Given the description of an element on the screen output the (x, y) to click on. 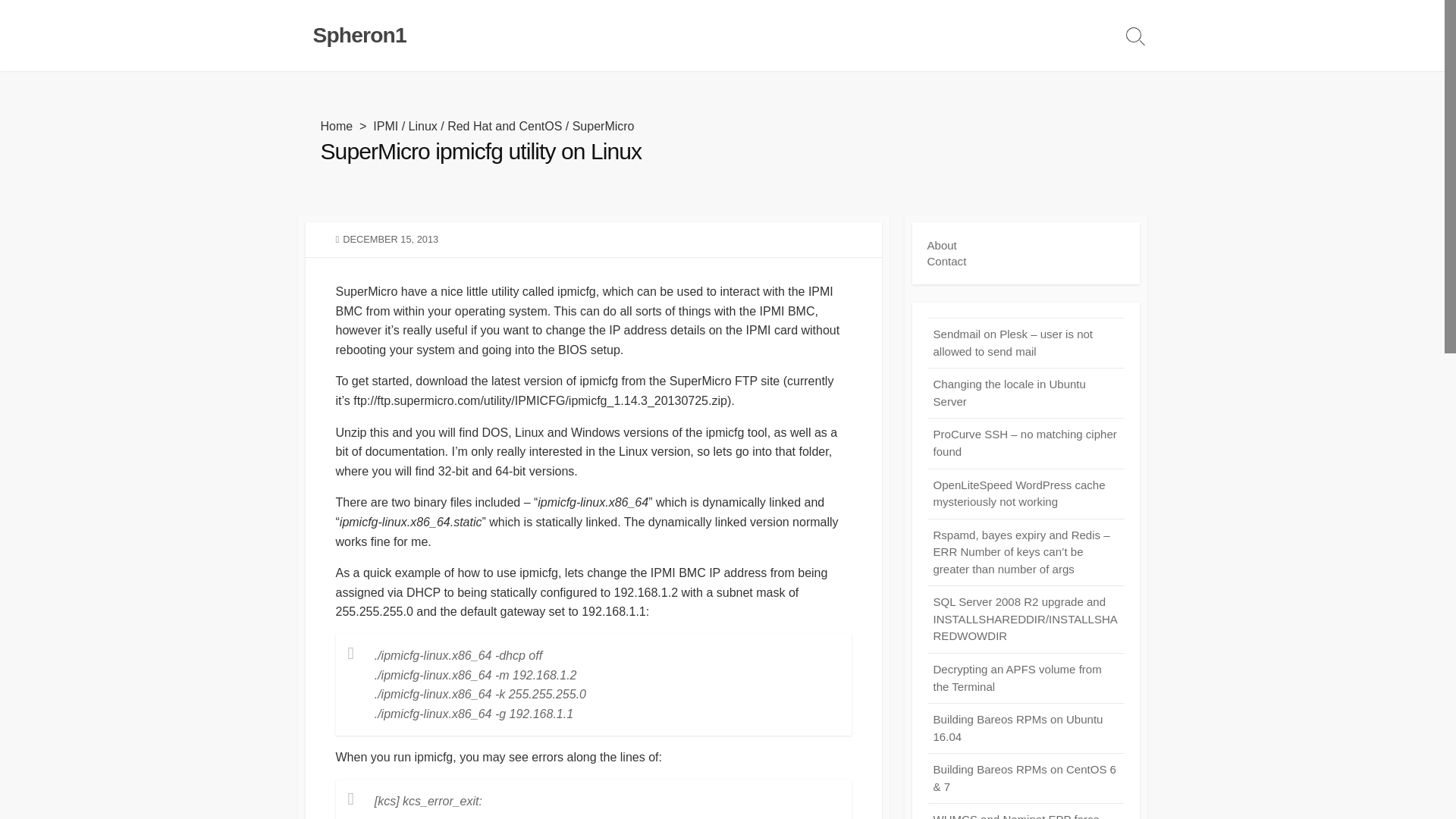
Red Hat and CentOS (504, 125)
Spheron1 (359, 35)
Linux (423, 125)
IPMI (384, 125)
SuperMicro (603, 125)
Home (336, 125)
Spheron1 (359, 35)
